Given the description of an element on the screen output the (x, y) to click on. 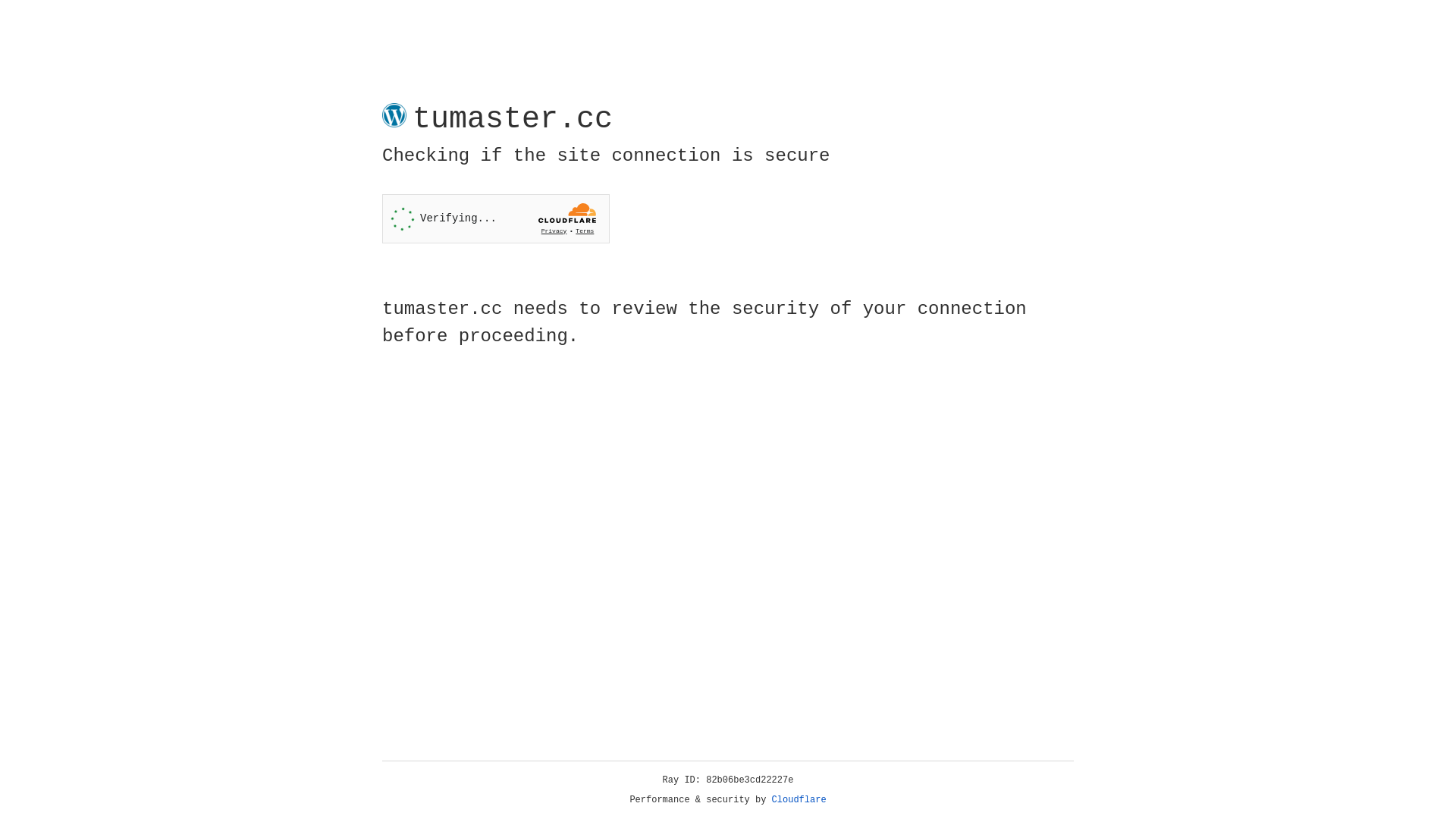
Widget containing a Cloudflare security challenge Element type: hover (495, 218)
Cloudflare Element type: text (798, 799)
